Given the description of an element on the screen output the (x, y) to click on. 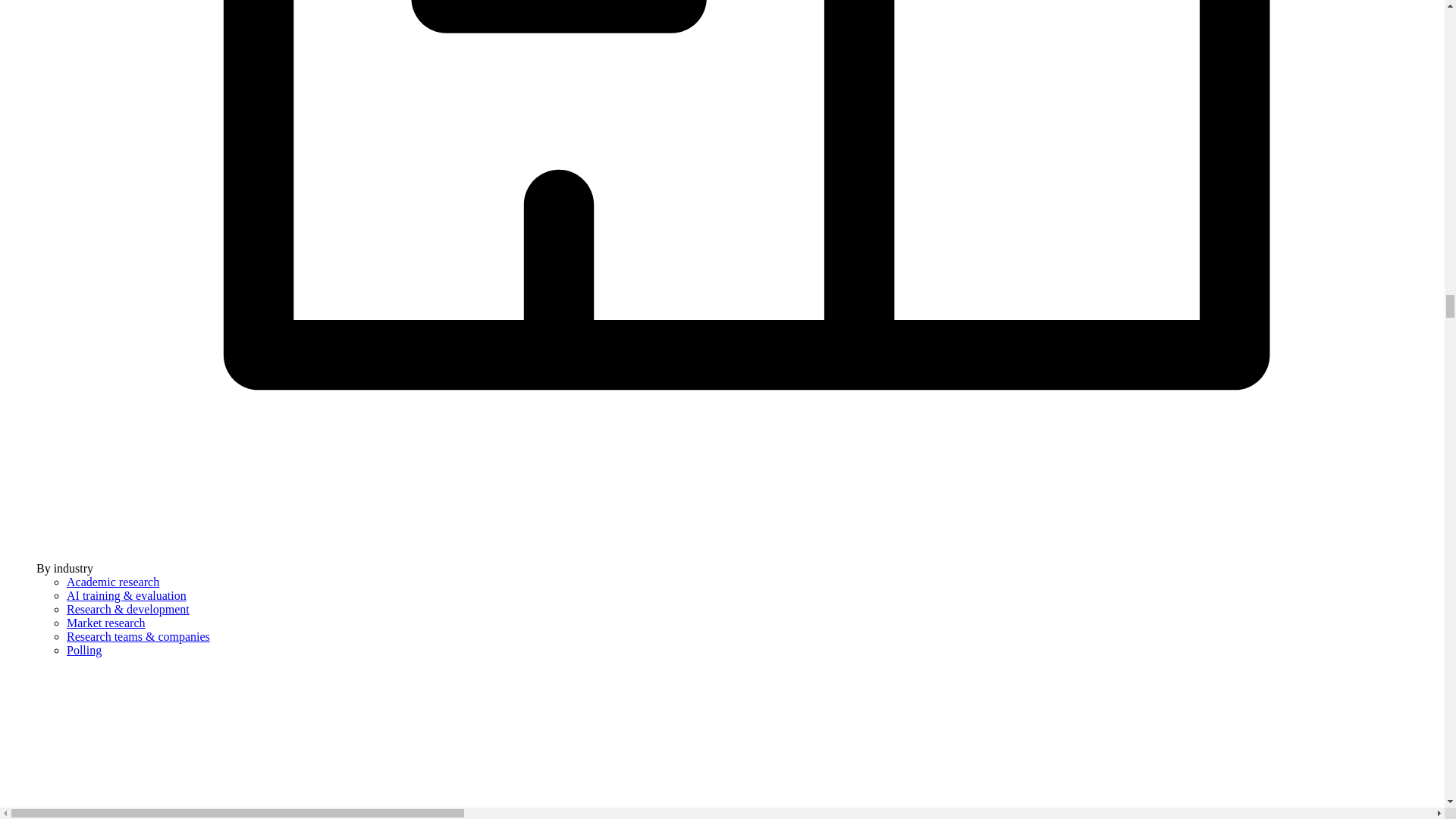
Market research (105, 622)
Academic research (112, 581)
Polling (83, 649)
